Given the description of an element on the screen output the (x, y) to click on. 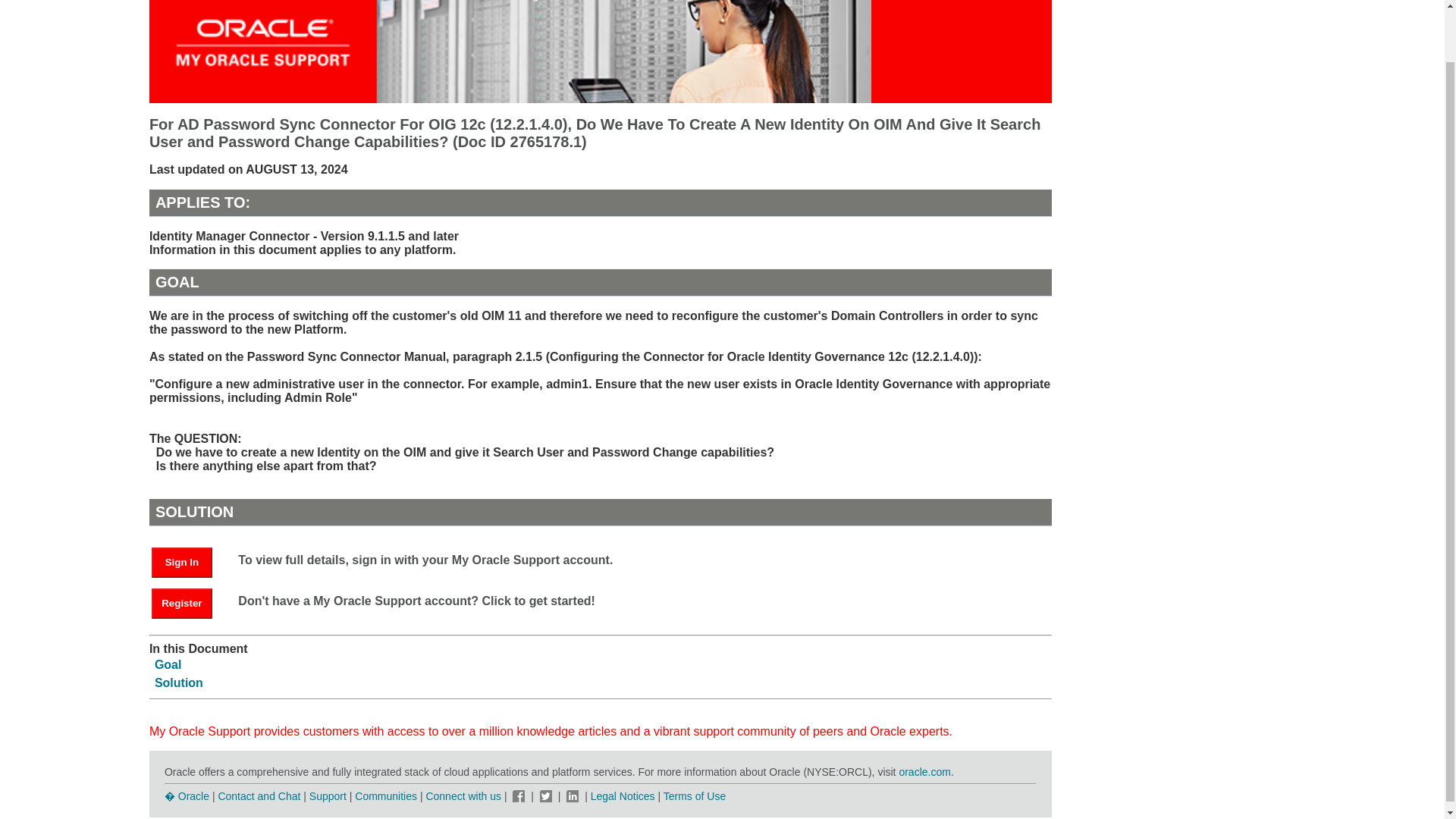
Connect with us (464, 796)
Communities (385, 796)
Contact and Chat (257, 796)
Legal Notices (623, 796)
Sign In (189, 561)
Register (181, 603)
Terms of Use (694, 796)
Support (327, 796)
Goal (168, 664)
Register (189, 602)
